Given the description of an element on the screen output the (x, y) to click on. 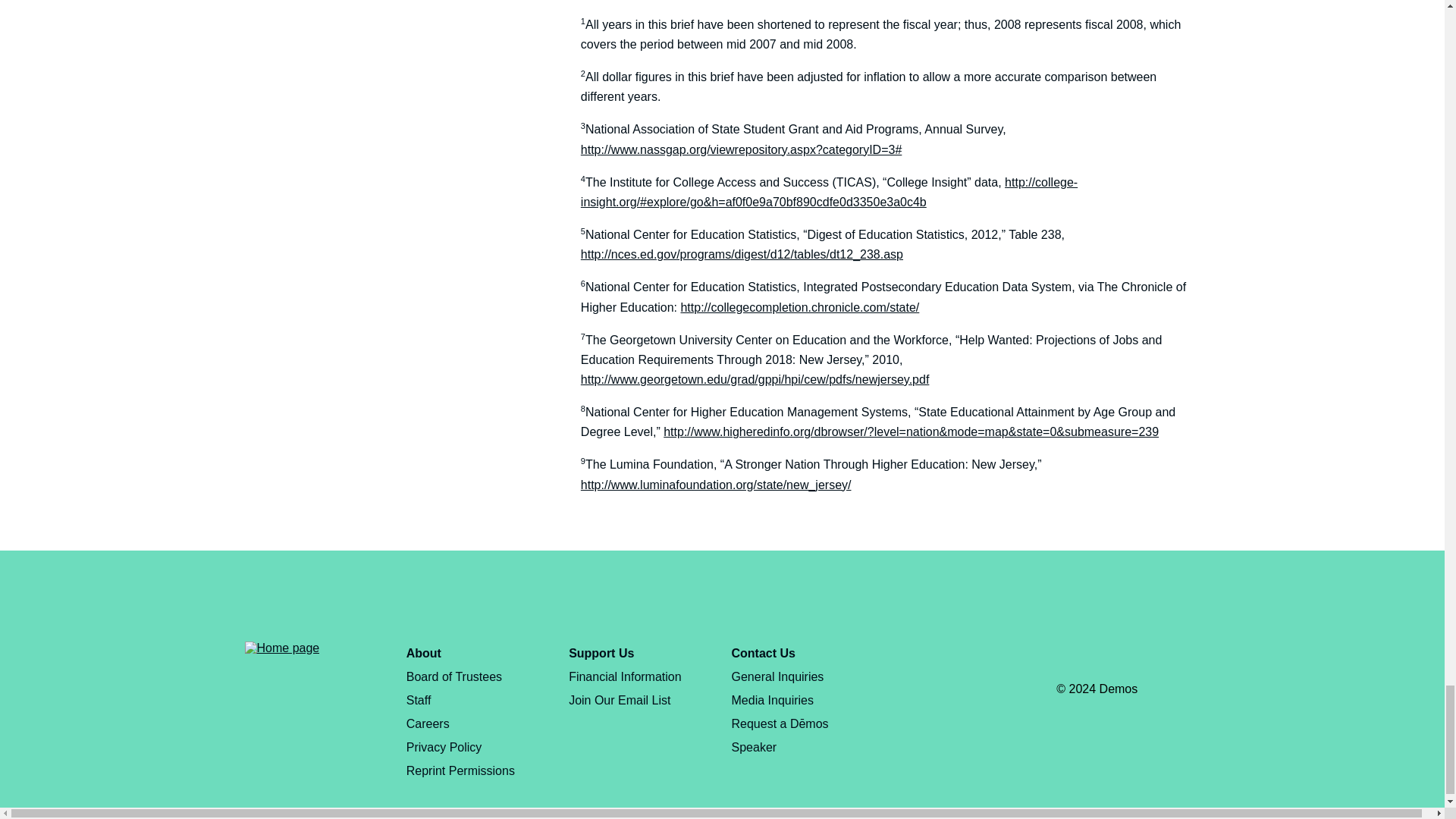
Complete a Demos speaker request (780, 735)
Home (281, 647)
About Demos (423, 653)
